Given the description of an element on the screen output the (x, y) to click on. 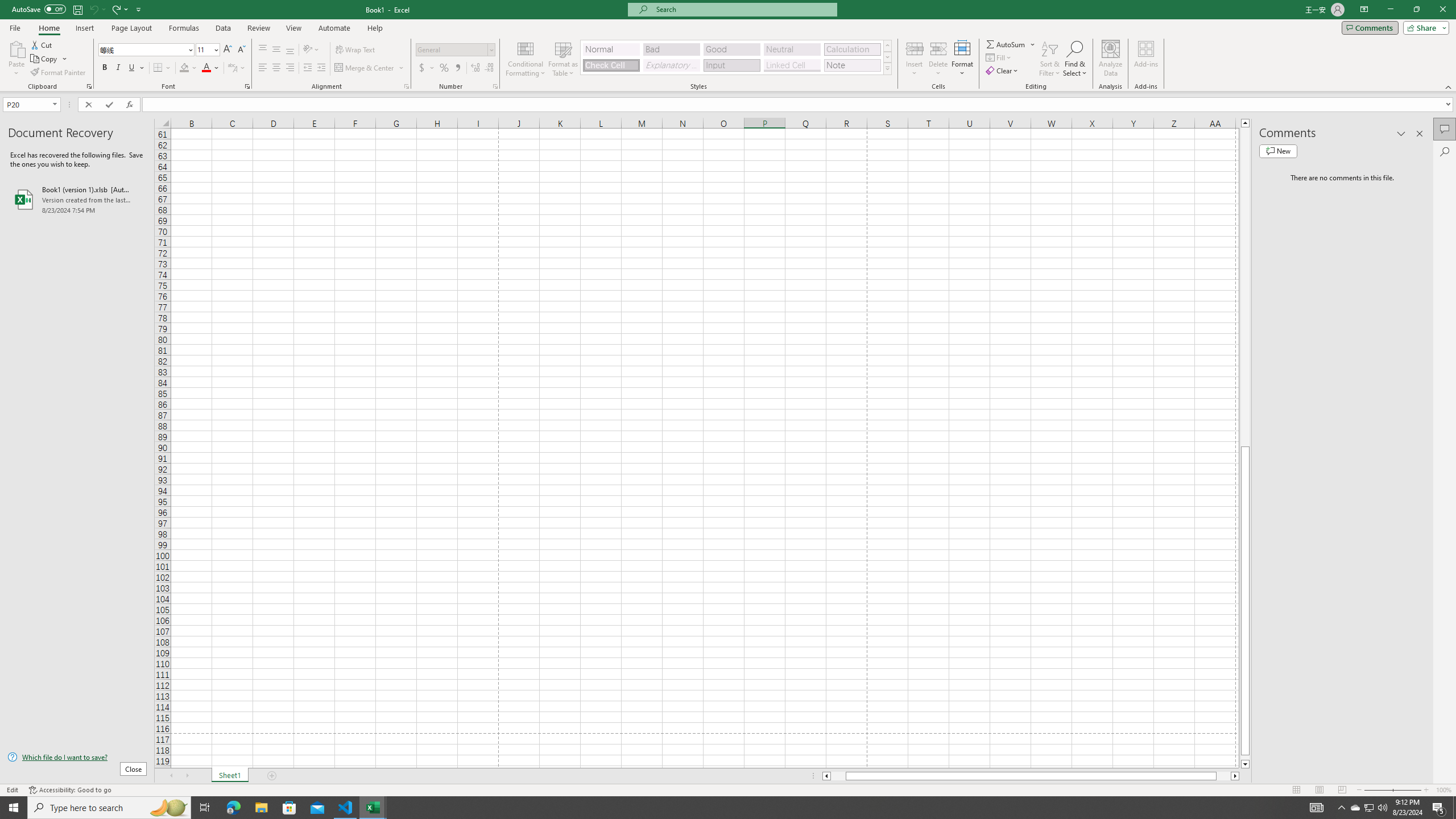
New comment (1278, 151)
Linked Cell (791, 65)
Office Clipboard... (88, 85)
Orientation (311, 49)
Increase Font Size (227, 49)
Cell Styles (887, 68)
Good (731, 49)
